Given the description of an element on the screen output the (x, y) to click on. 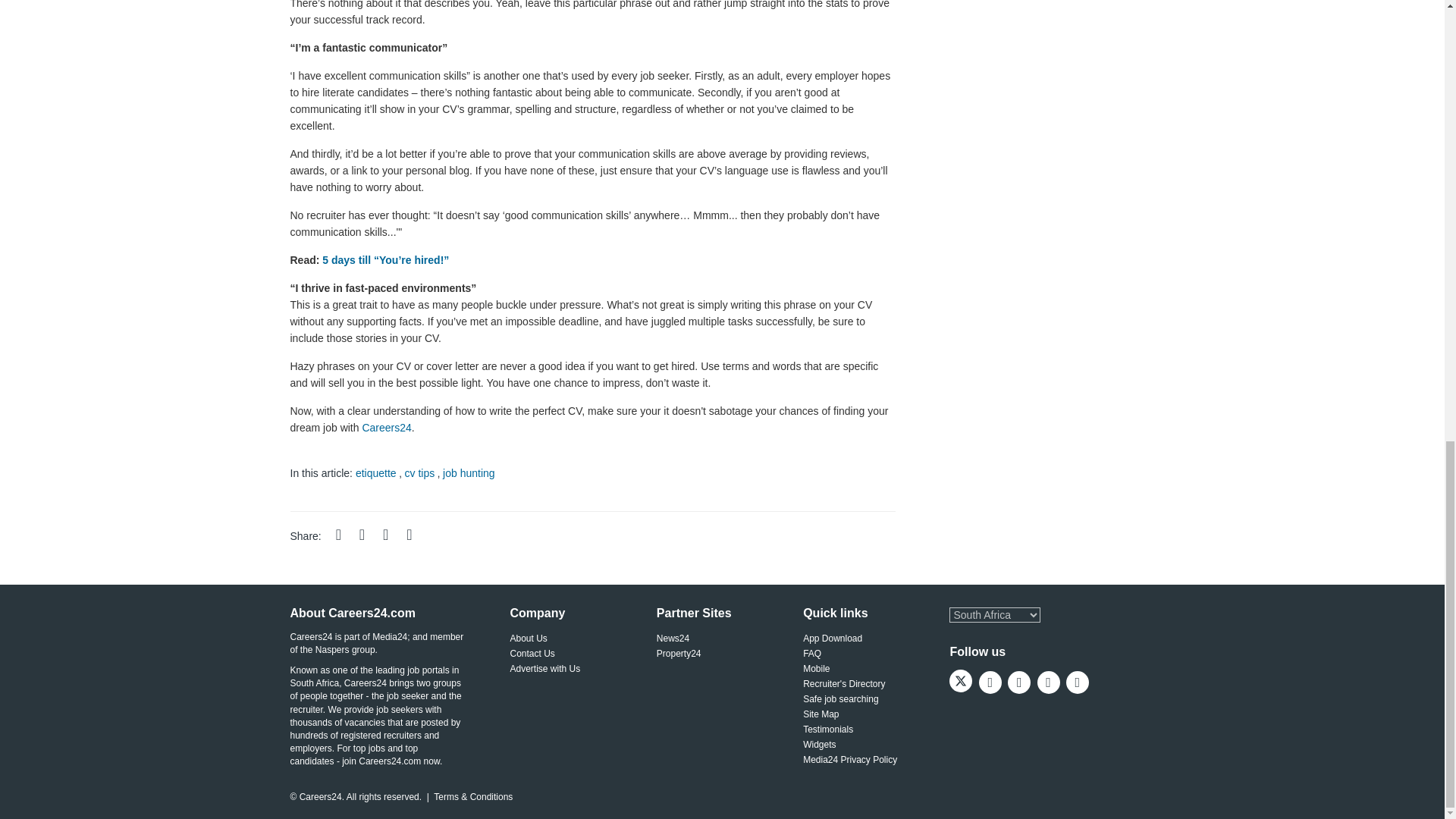
Share on LinkedIn (394, 535)
Follow us on Facebook (992, 683)
Share on Facebook (347, 535)
Careers24 (385, 426)
cv tips (419, 472)
Follow us on Twitter (963, 683)
Share on Twitter (370, 535)
job hunting (468, 472)
Follow us on LinkedIn (1050, 683)
etiquette (375, 472)
